Given the description of an element on the screen output the (x, y) to click on. 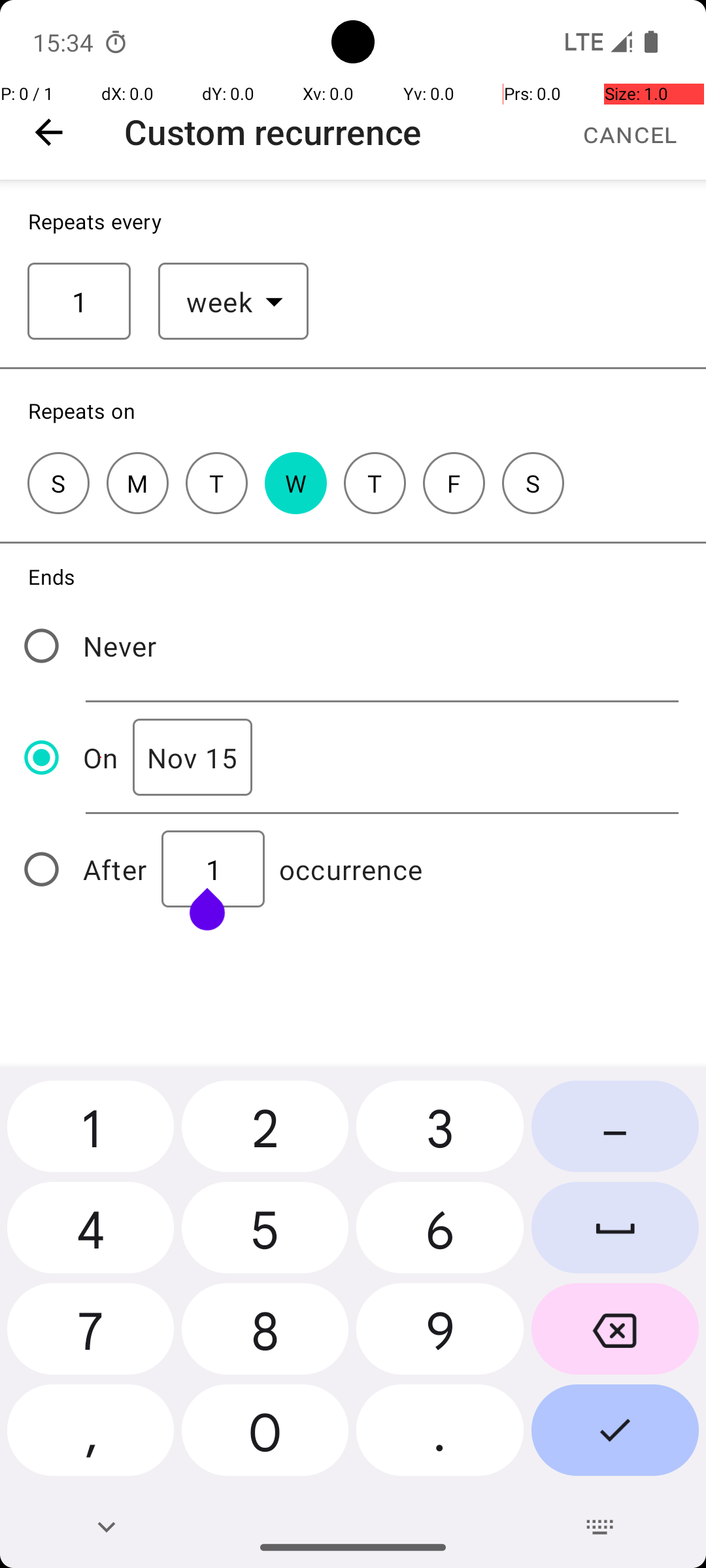
Repeats every Element type: android.widget.TextView (94, 221)
Repeats on Element type: android.widget.TextView (81, 410)
Ends Element type: android.widget.TextView (51, 576)
Custom recurrence Element type: android.widget.TextView (273, 131)
week Element type: android.widget.TextView (219, 301)
Never Element type: android.widget.TextView (120, 645)
After Element type: android.widget.TextView (114, 868)
occurrence Element type: android.widget.TextView (350, 868)
Nov 15 Element type: android.widget.TextView (192, 757)
